Given the description of an element on the screen output the (x, y) to click on. 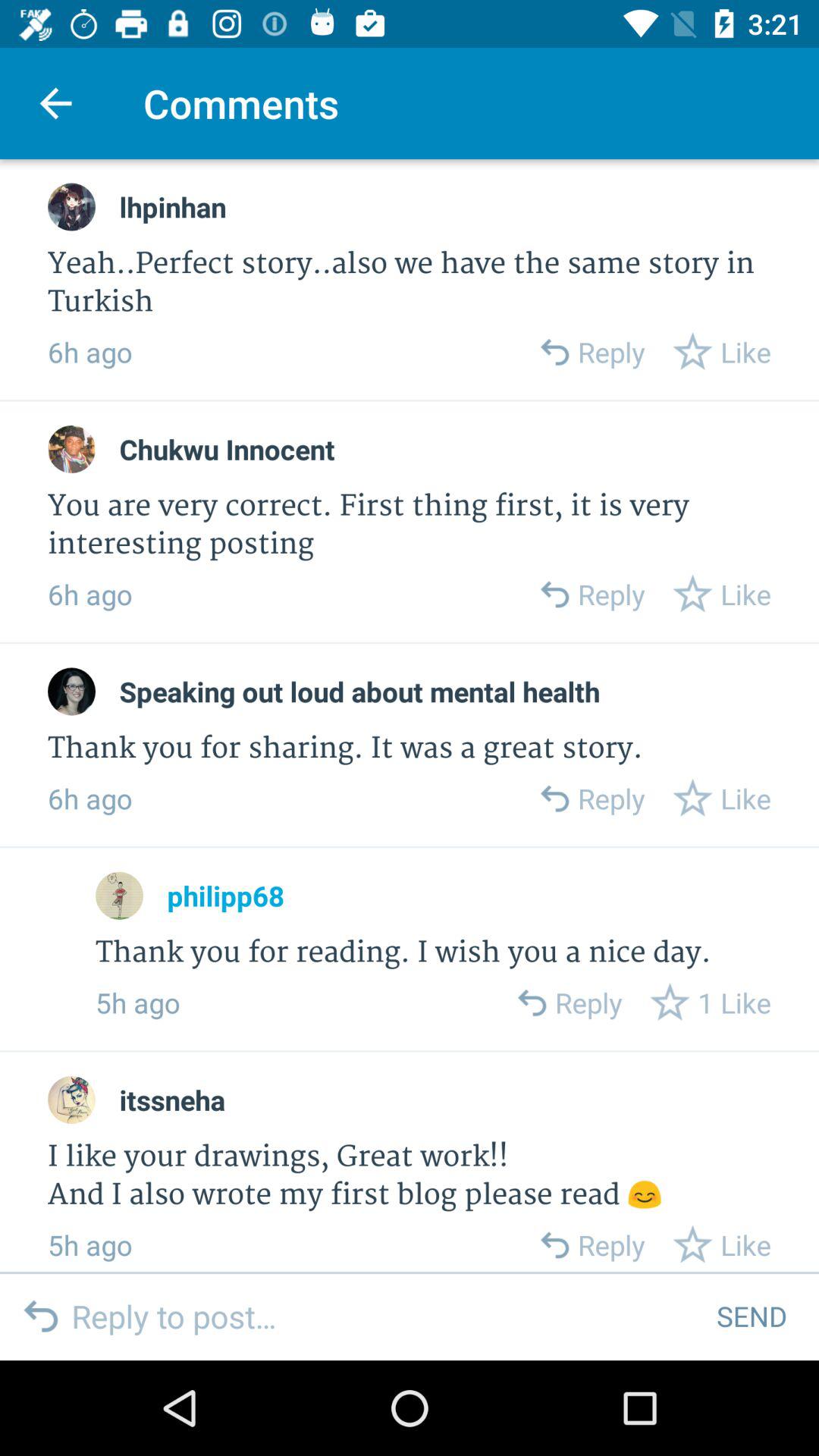
launch item next to the send (381, 1315)
